Given the description of an element on the screen output the (x, y) to click on. 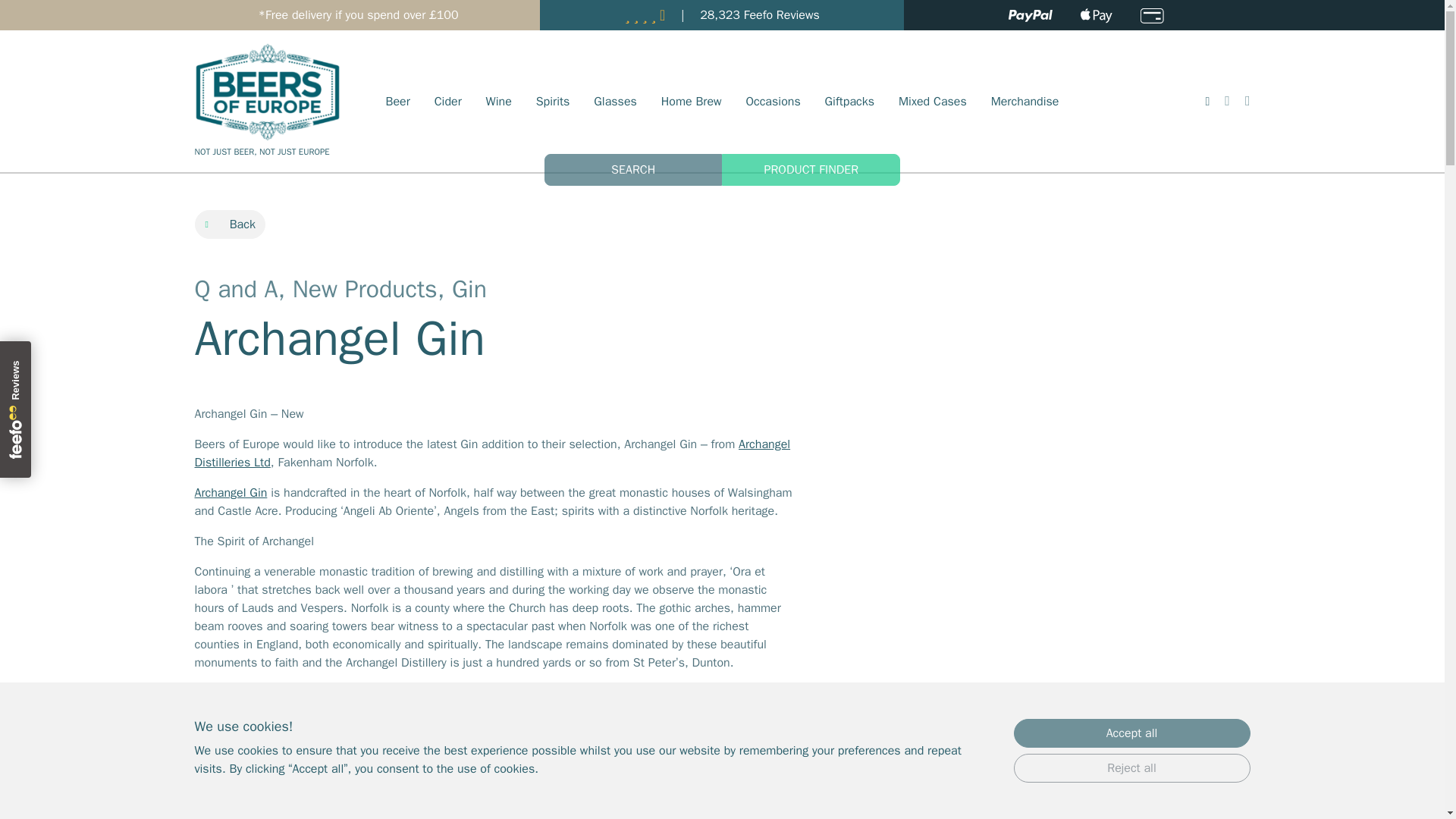
Beer (397, 101)
NOT JUST BEER, NOT JUST EUROPE (266, 121)
